Given the description of an element on the screen output the (x, y) to click on. 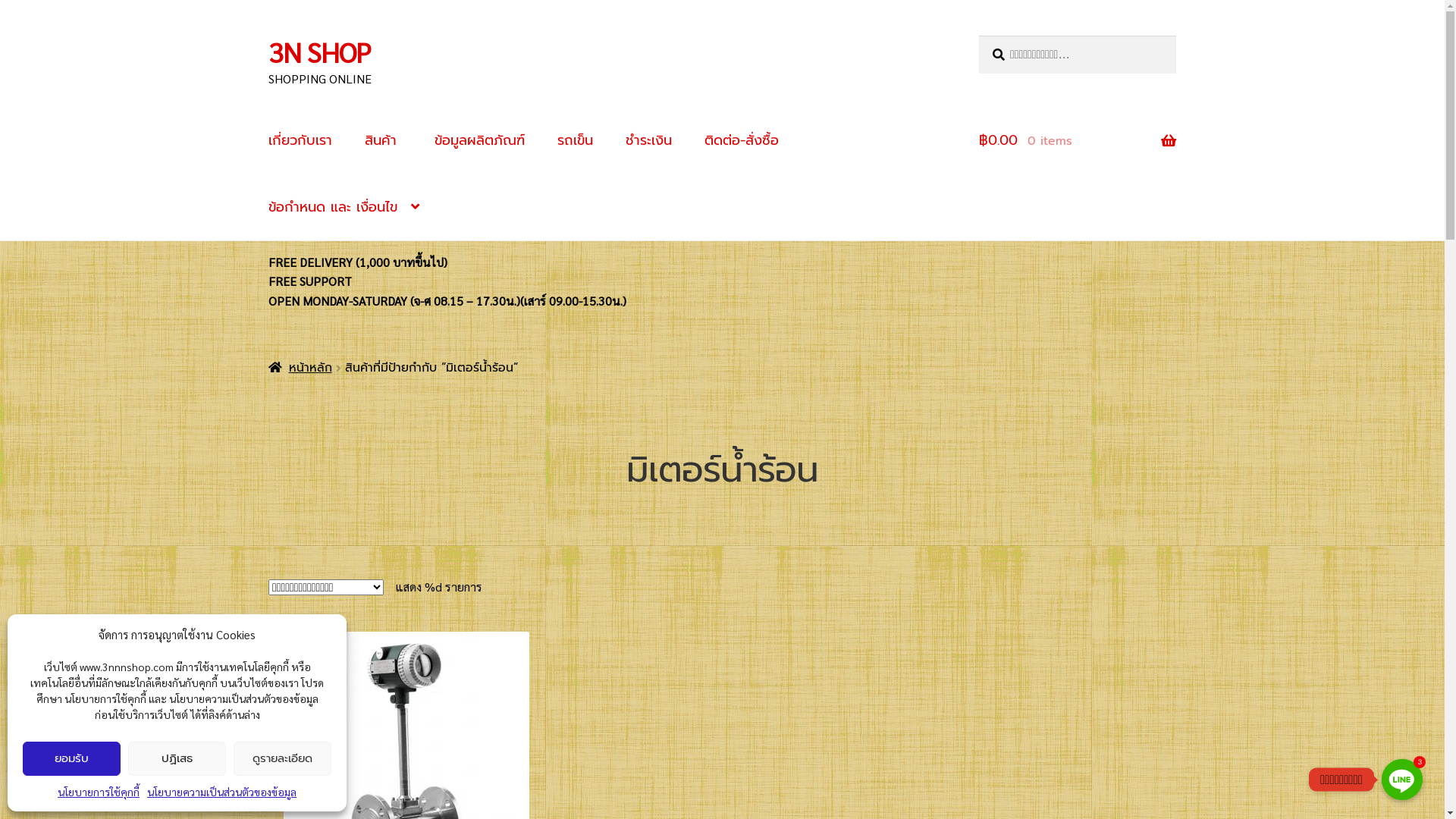
3N SHOP Element type: text (319, 51)
Skip to navigation Element type: text (267, 34)
